Given the description of an element on the screen output the (x, y) to click on. 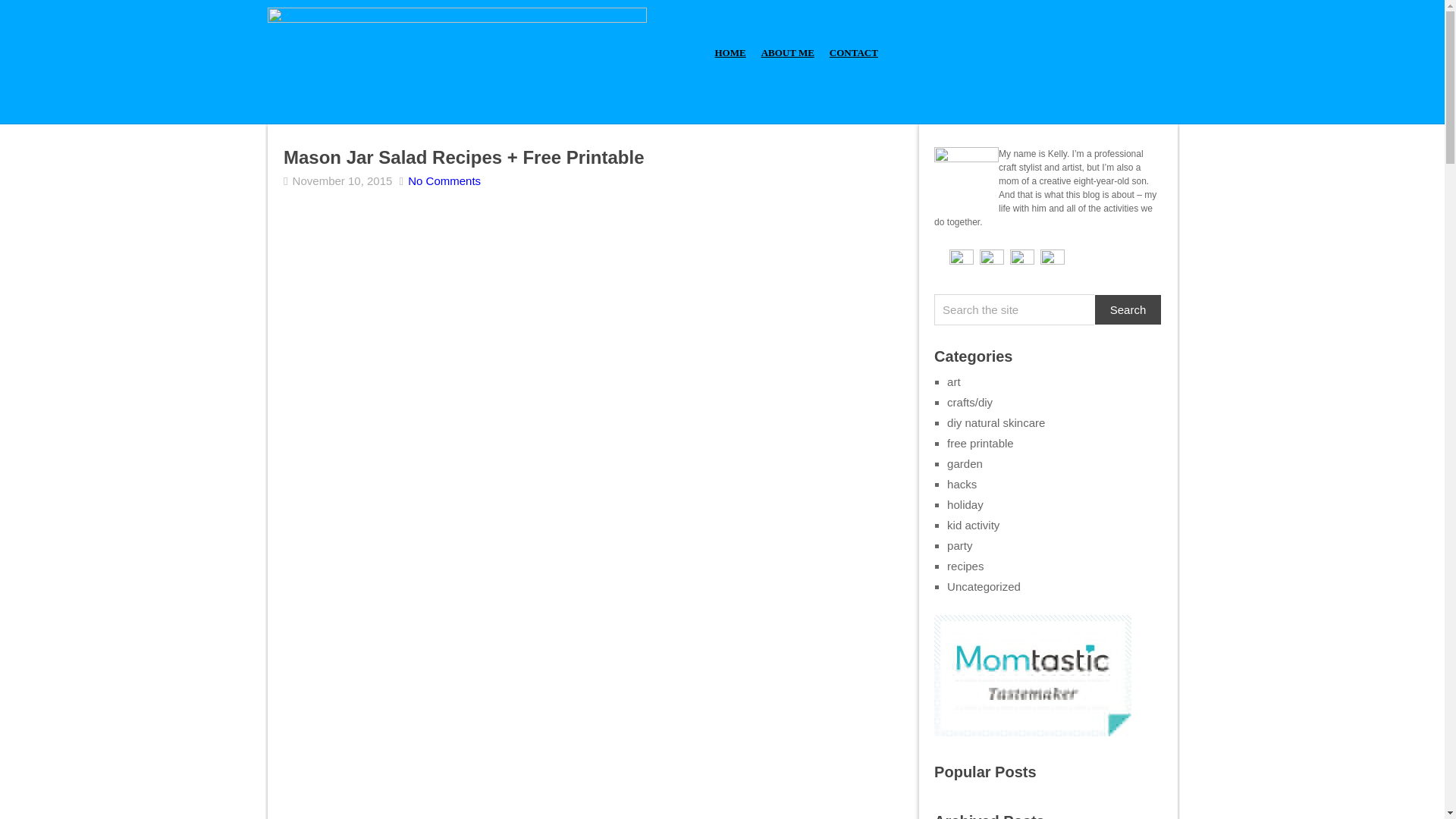
ABOUT ME (788, 52)
CONTACT (853, 52)
recipes (965, 565)
Search the site (1014, 309)
hacks (961, 483)
party (959, 545)
kid activity (972, 524)
garden (964, 463)
Uncategorized (983, 585)
Search (1127, 309)
